Given the description of an element on the screen output the (x, y) to click on. 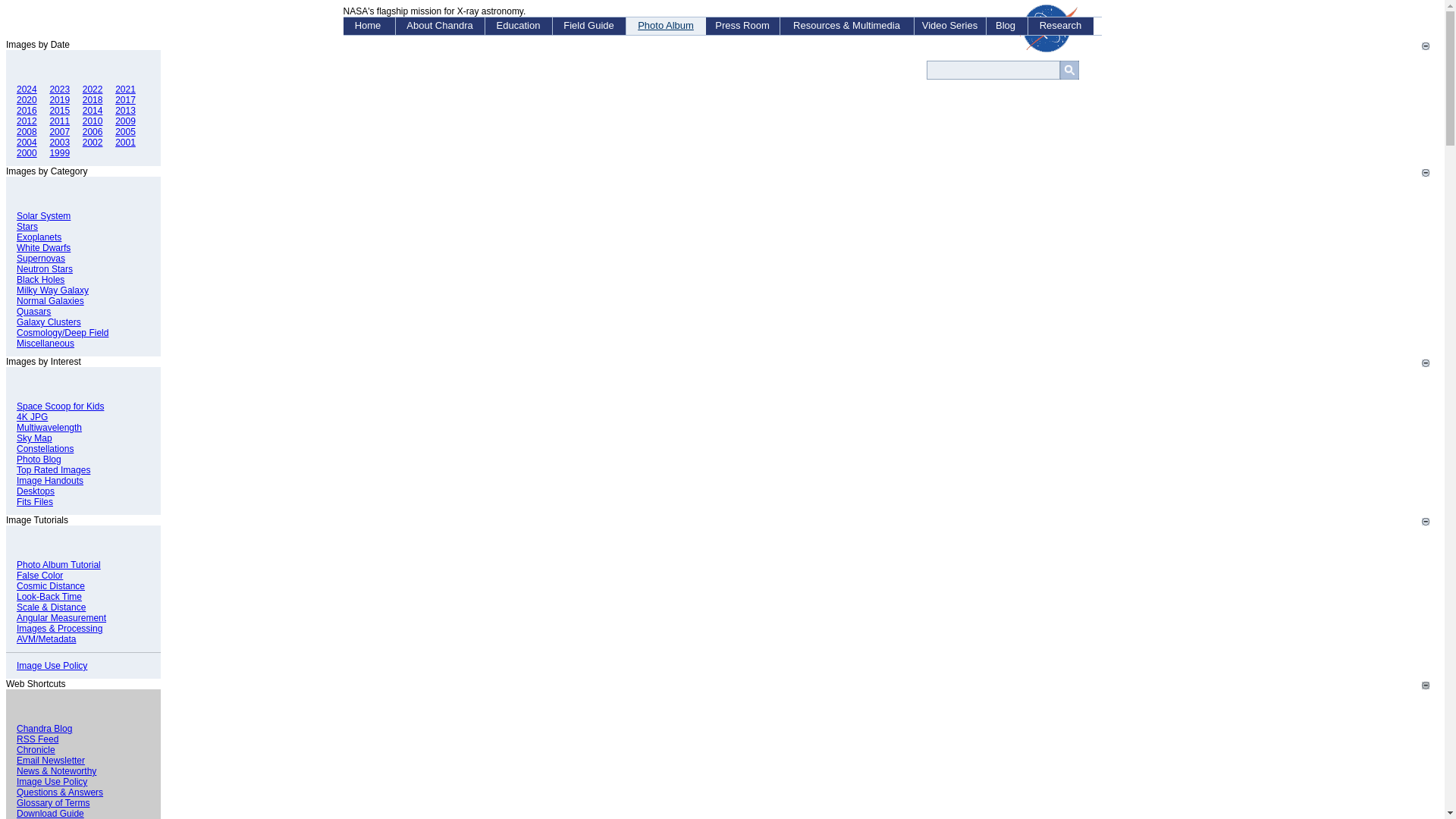
2023 (59, 89)
About Chandra (440, 26)
Video Series (950, 26)
2002 (92, 142)
2009 (125, 121)
Field Guide (588, 26)
2020 (26, 100)
2008 (26, 131)
Photo Album (666, 26)
Press Room (741, 26)
